Given the description of an element on the screen output the (x, y) to click on. 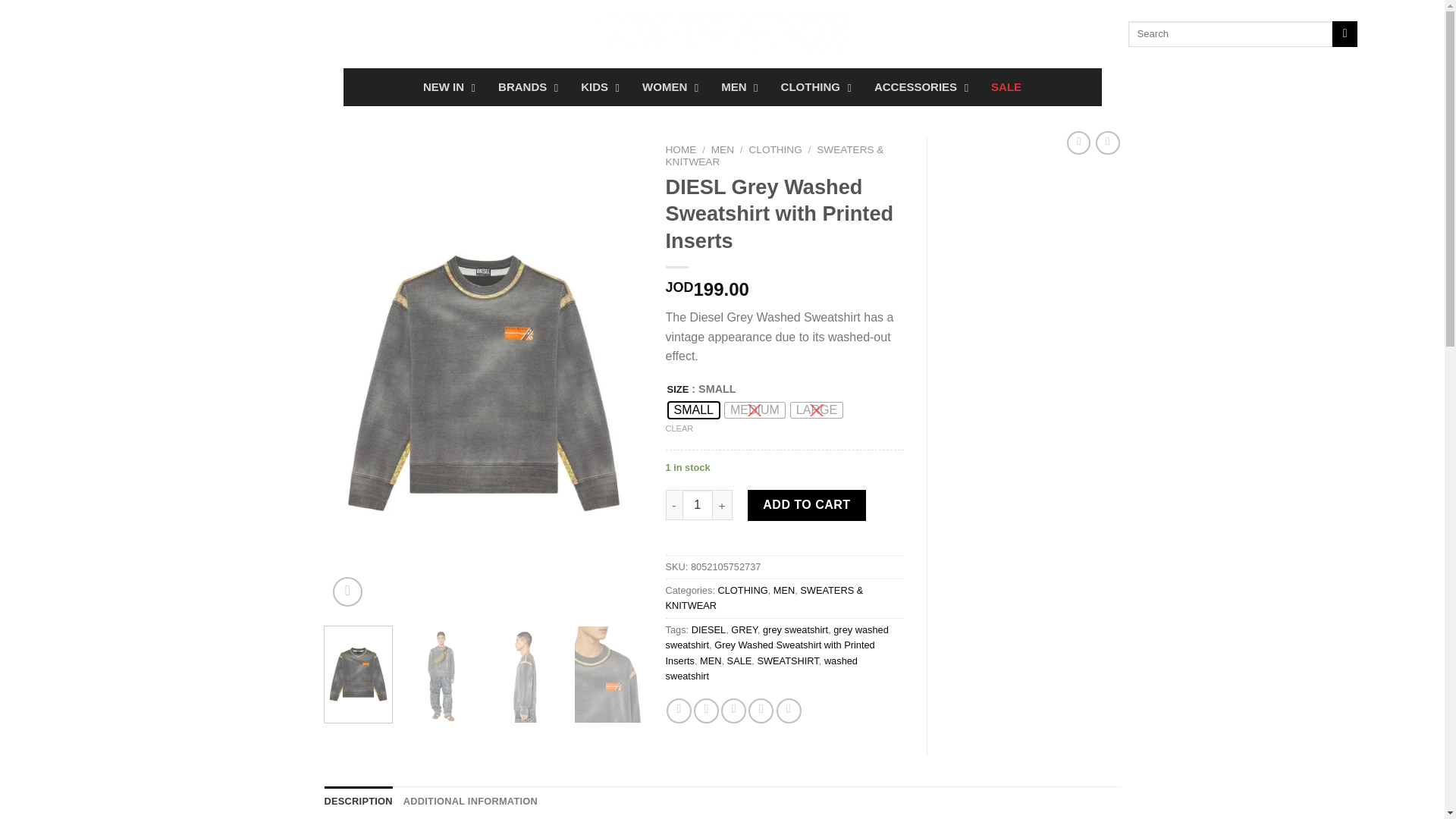
Zoom (347, 591)
SMALL (693, 409)
Search (1344, 33)
Follow on Facebook (53, 33)
NEW IN (445, 86)
LUXINABOX - Your Online Luxury Store. (721, 34)
FREE DELIVERY (721, 86)
Follow on Instagram (169, 33)
MEDIUM (73, 33)
